Given the description of an element on the screen output the (x, y) to click on. 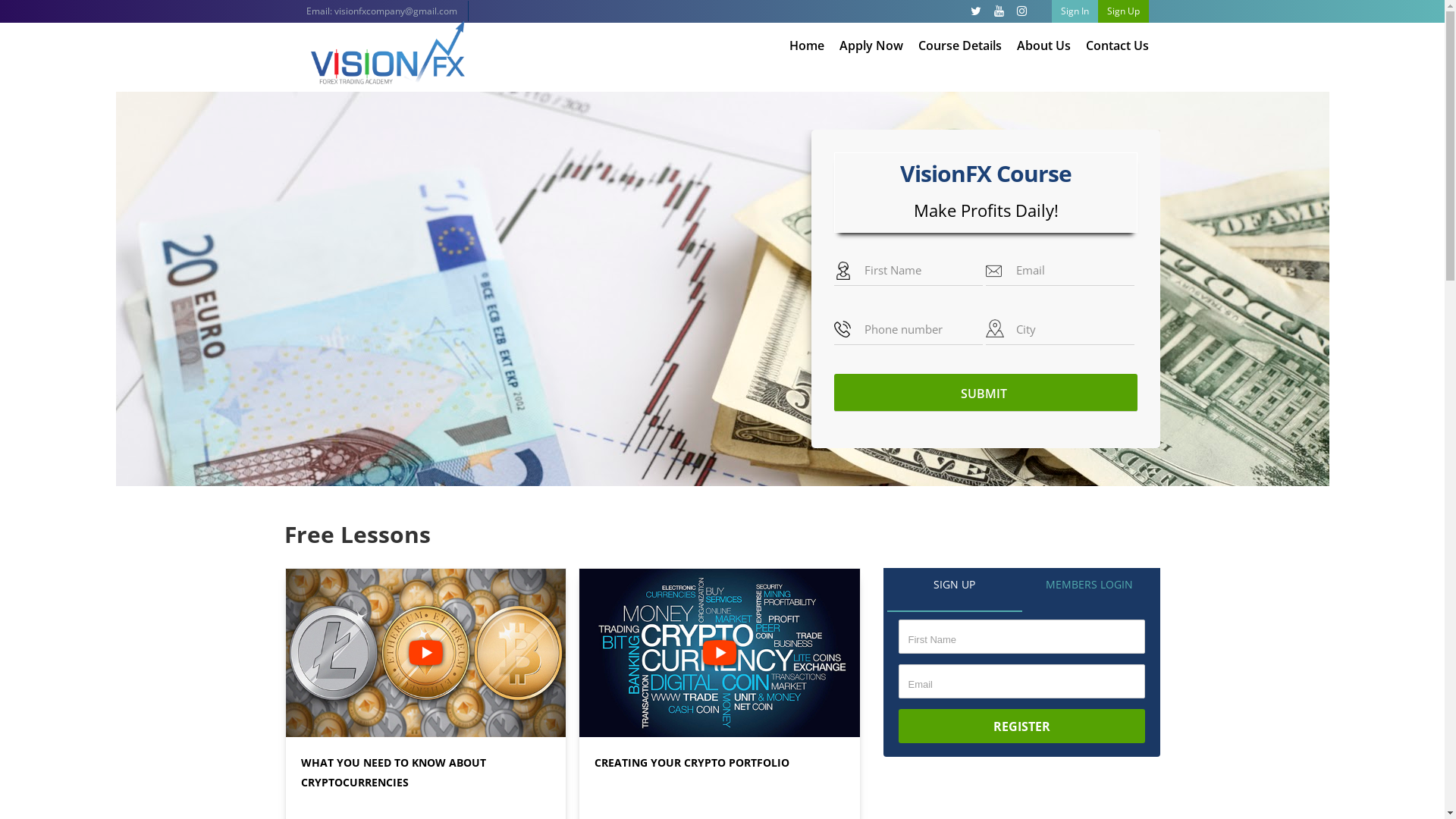
CREATING YOUR CRYPTO PORTFOLIO Element type: text (691, 762)
Email: visionfxcompany@gmail.com Element type: text (381, 10)
About Us Element type: text (1043, 45)
Register Element type: text (1021, 726)
Home Element type: text (806, 45)
WHAT YOU NEED TO KNOW ABOUT CRYPTOCURRENCIES Element type: text (392, 772)
Course Details Element type: text (959, 45)
SIGN UP Element type: text (954, 593)
Submit Element type: text (985, 392)
MEMBERS LOGIN Element type: text (1089, 593)
Apply Now Element type: text (870, 45)
Contact Us Element type: text (1113, 45)
